Given the description of an element on the screen output the (x, y) to click on. 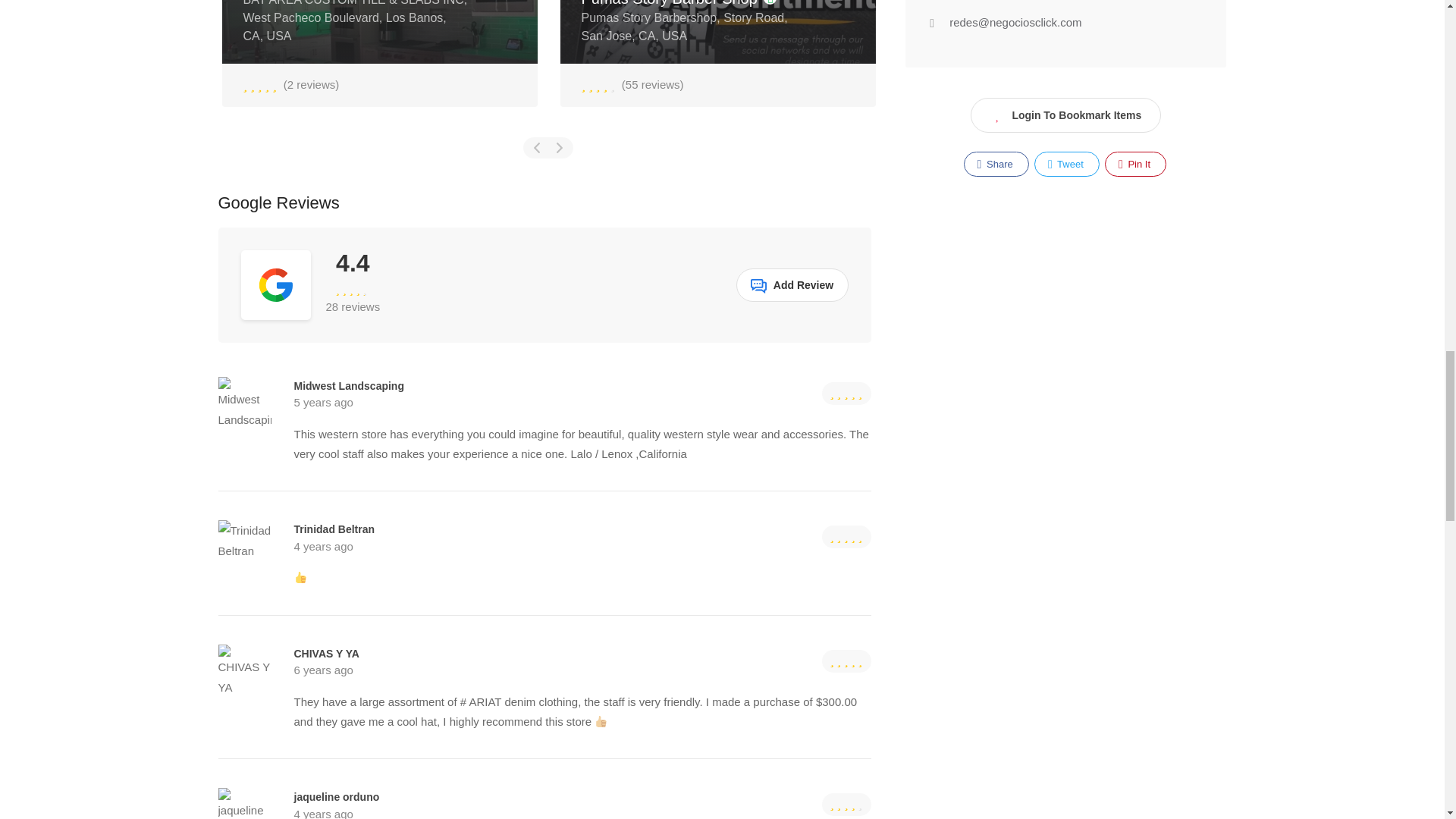
Twitter (1066, 163)
